Given the description of an element on the screen output the (x, y) to click on. 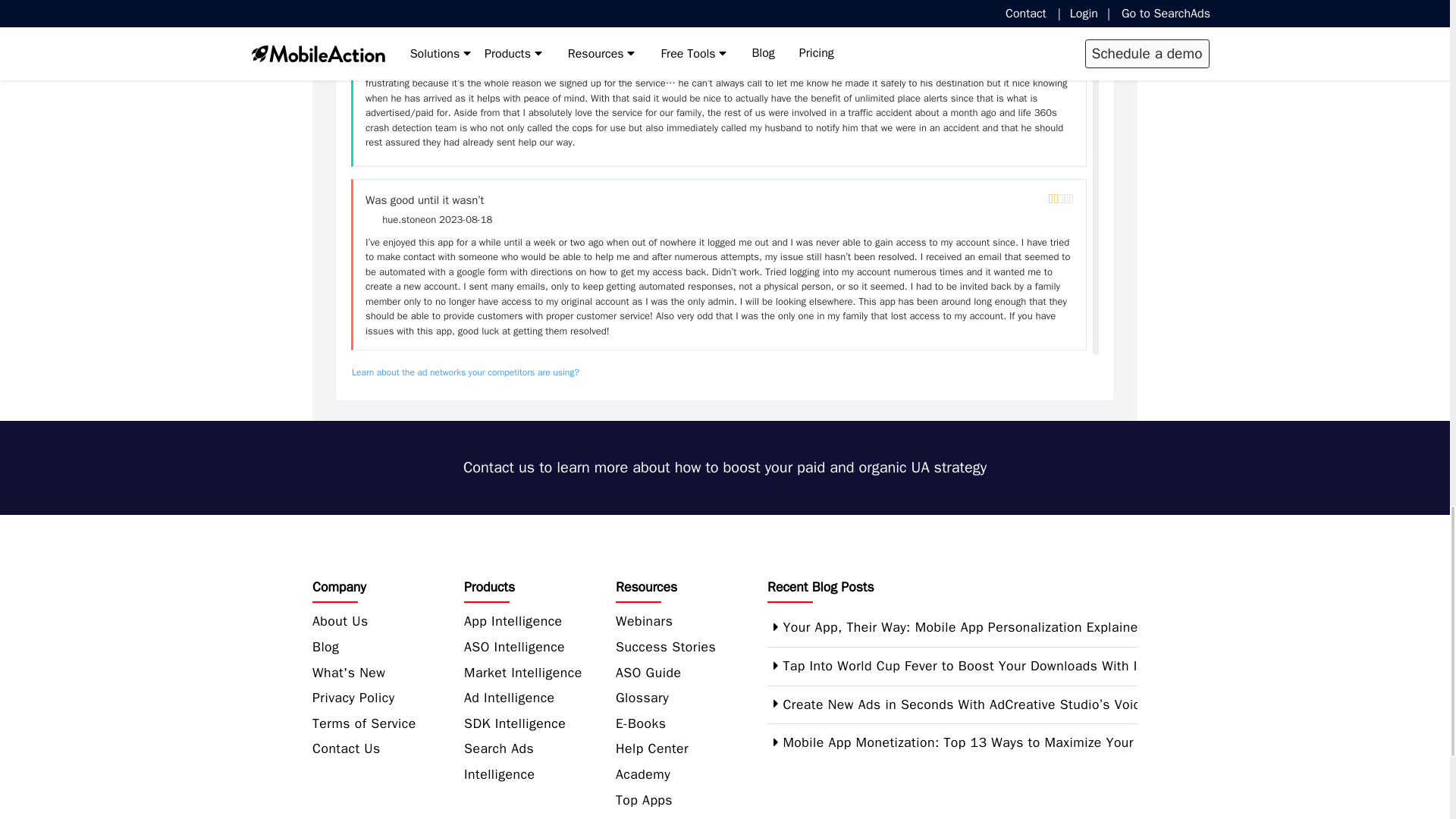
Schedule Demo (724, 467)
